Given the description of an element on the screen output the (x, y) to click on. 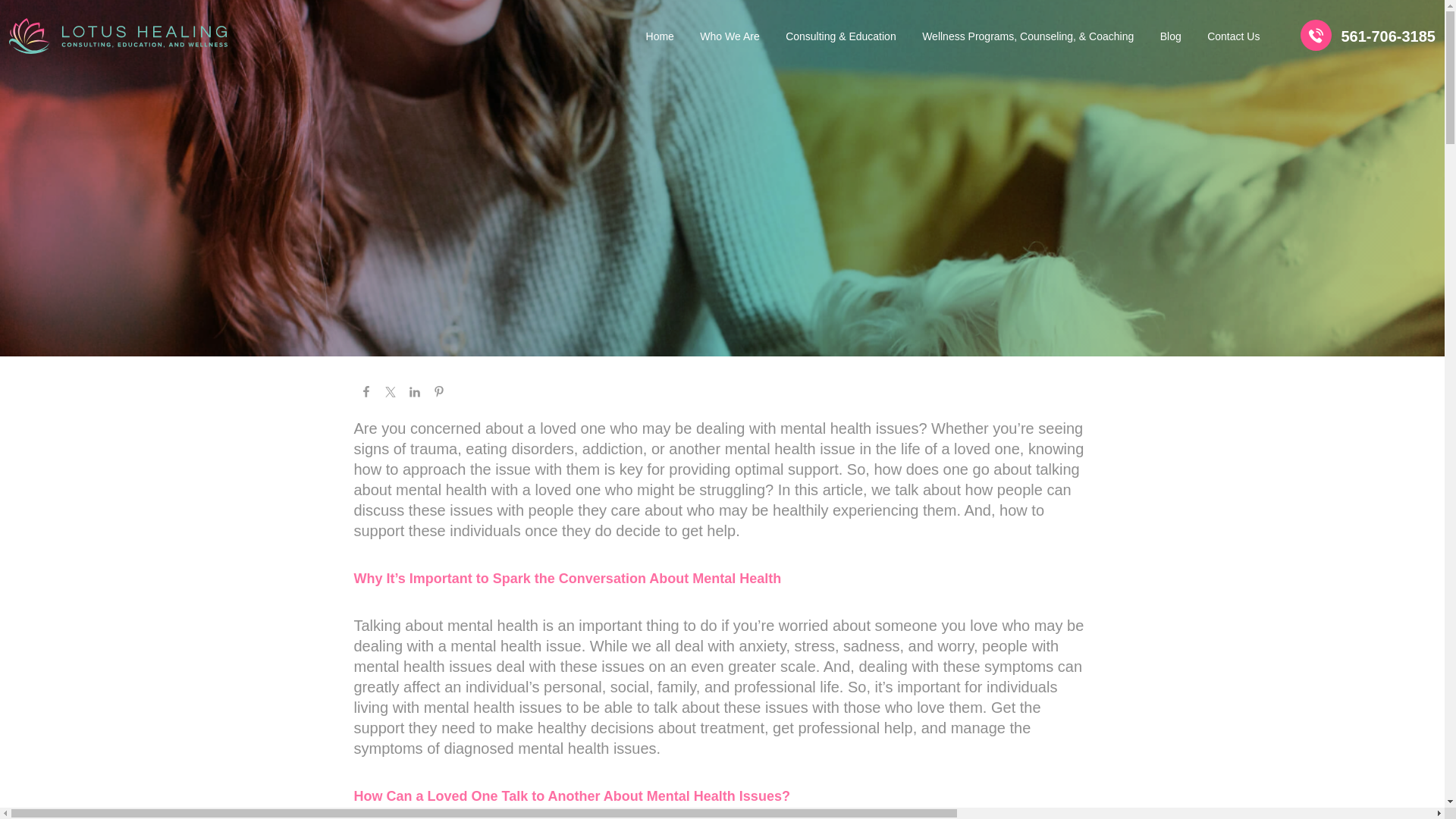
Contact Us (1233, 37)
Share on Pinterest (437, 391)
Share on LinkedIn (413, 391)
Share on Facebook (365, 391)
Home (660, 37)
561-706-3185 (1367, 36)
Who We Are (729, 37)
Share on Twitter (389, 391)
Lotus Healing (117, 36)
561-706-3185 (1367, 36)
